Given the description of an element on the screen output the (x, y) to click on. 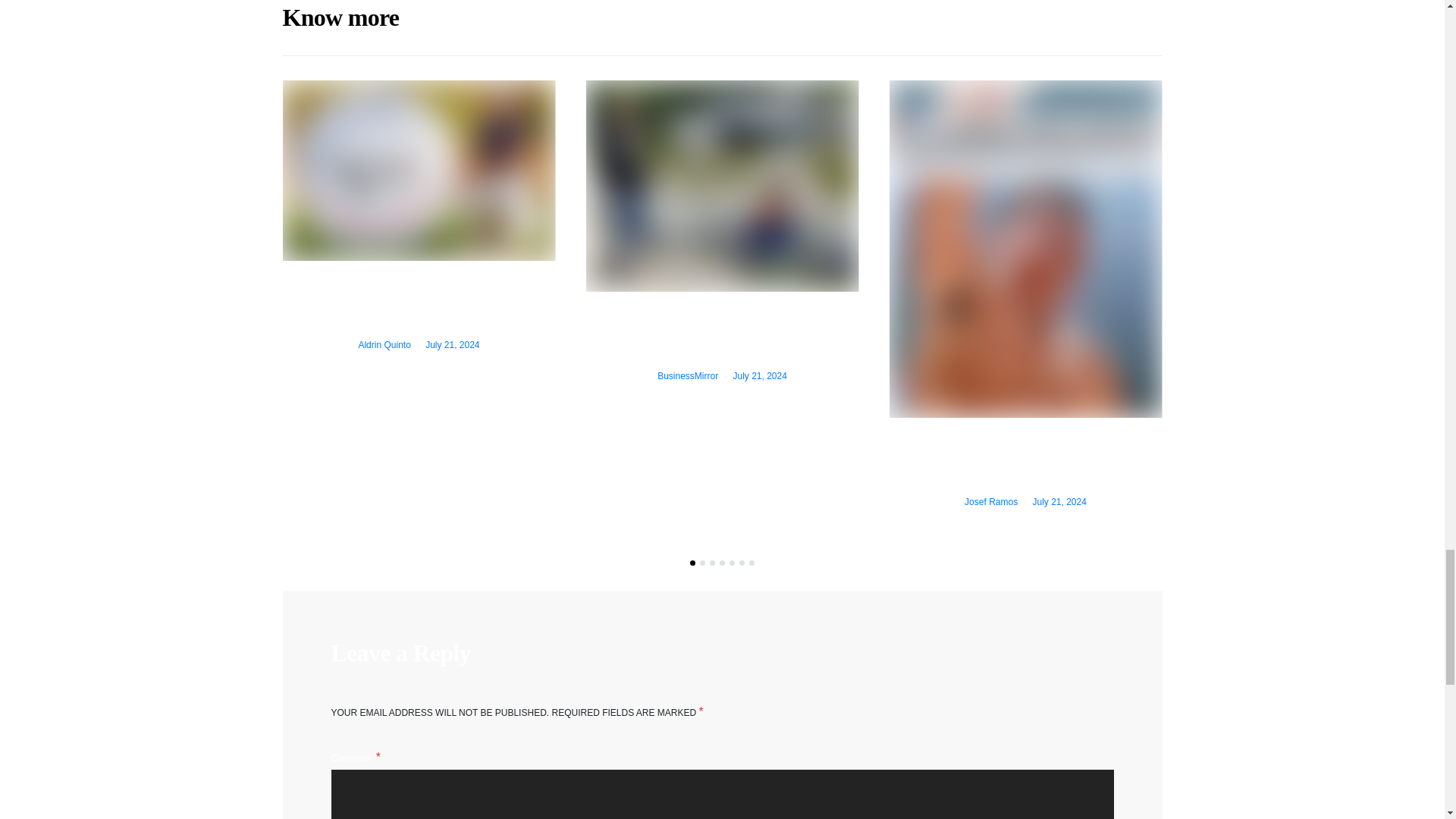
View all posts by Aldrin Quinto (384, 344)
View all posts by BusinessMirror (687, 376)
View all posts by Josef Ramos (990, 501)
